Given the description of an element on the screen output the (x, y) to click on. 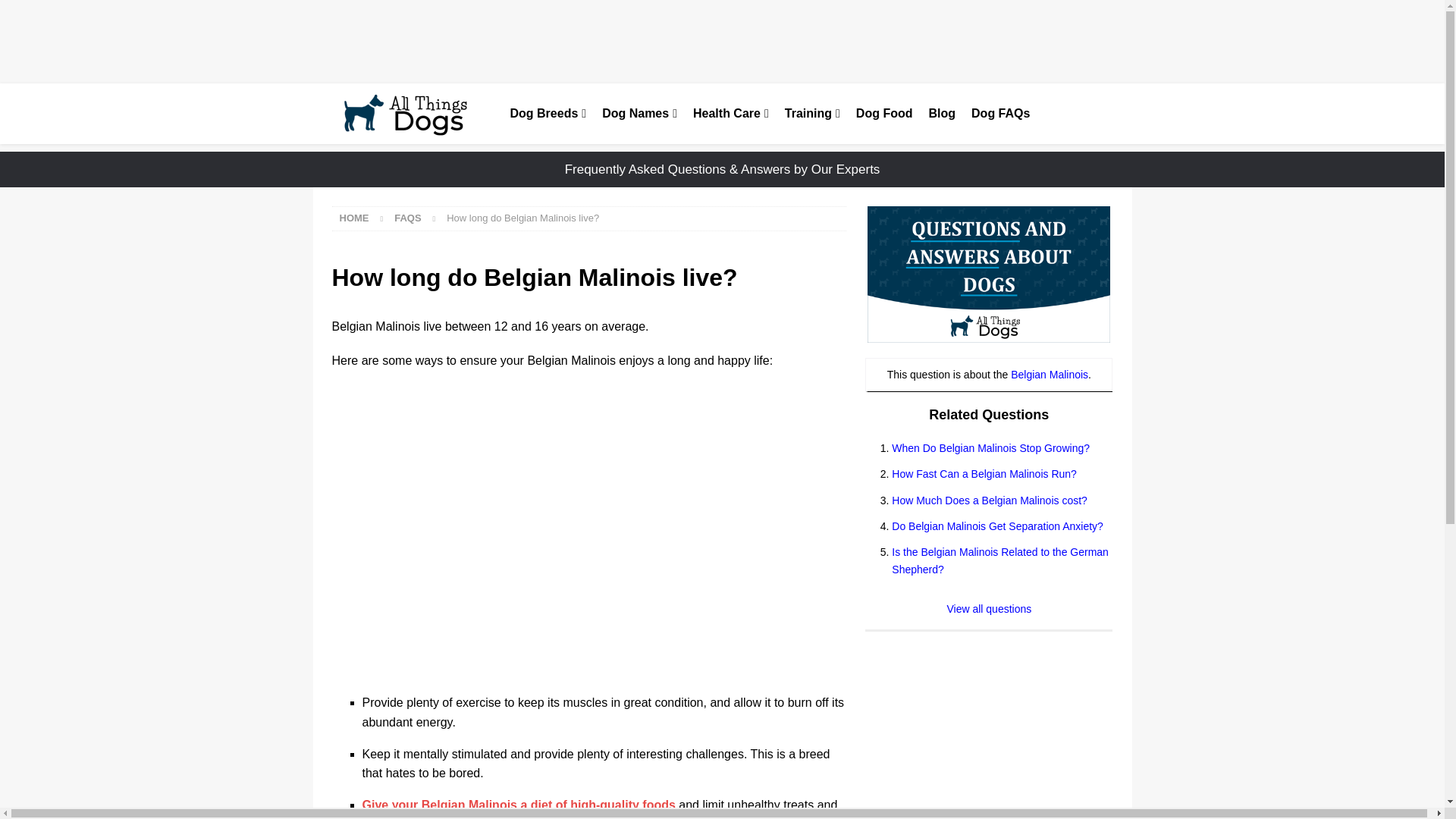
All Things Dogs (410, 113)
Home (354, 217)
Dog Food (883, 113)
Health Care (730, 113)
Blog (941, 113)
Dog Names (639, 113)
Dog FAQs (999, 113)
FAQs (407, 217)
Dog Breeds (548, 113)
Training (811, 113)
